Given the description of an element on the screen output the (x, y) to click on. 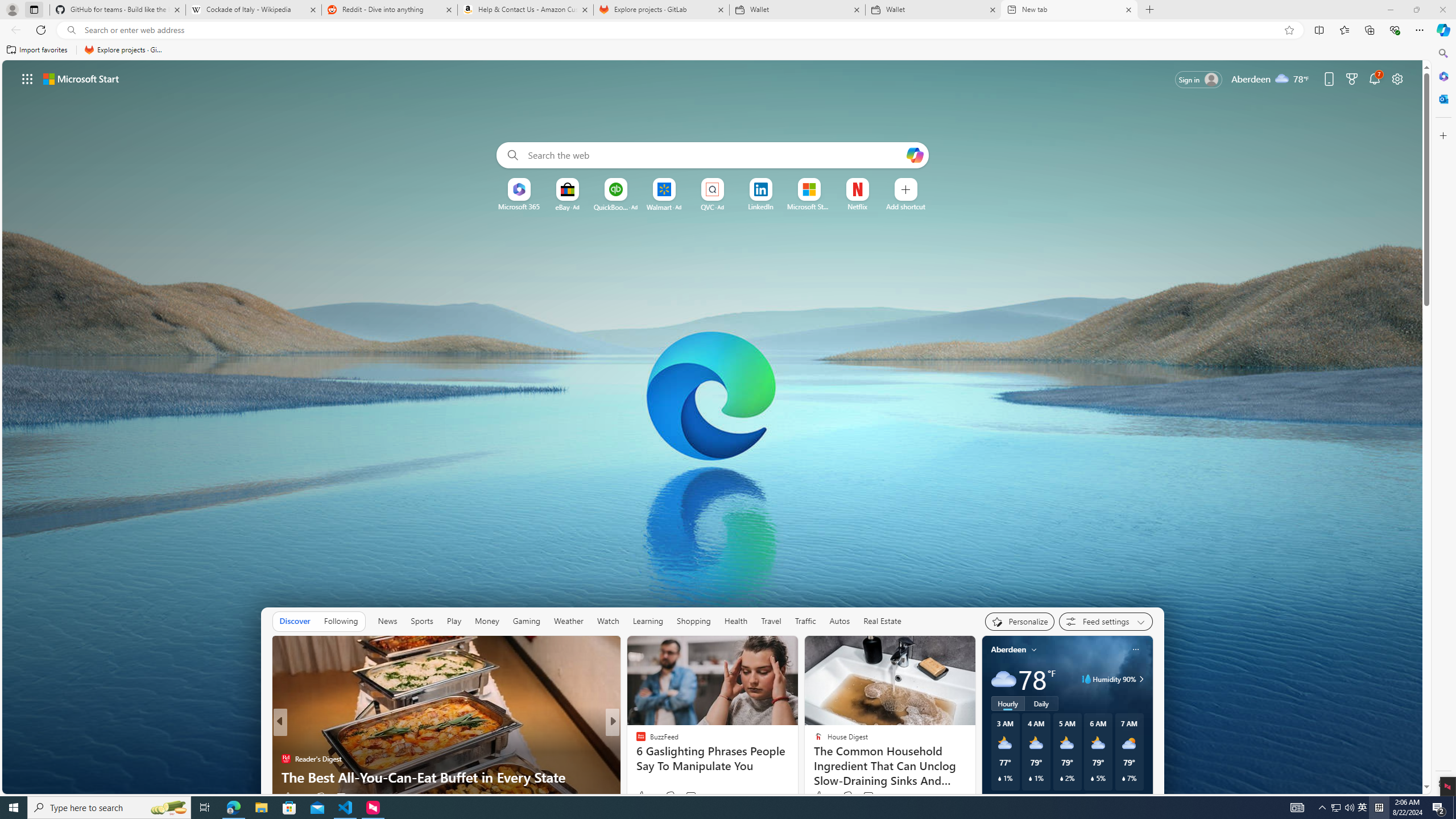
Help & Contact Us - Amazon Customer Service (525, 9)
AutomationID: 4105 (1297, 807)
Gaming (526, 621)
Click to sign into Microsoft Edge (1198, 79)
LinkedIn (760, 206)
Search (1442, 53)
News (387, 621)
Business Insider (635, 740)
Money (486, 621)
